Given the description of an element on the screen output the (x, y) to click on. 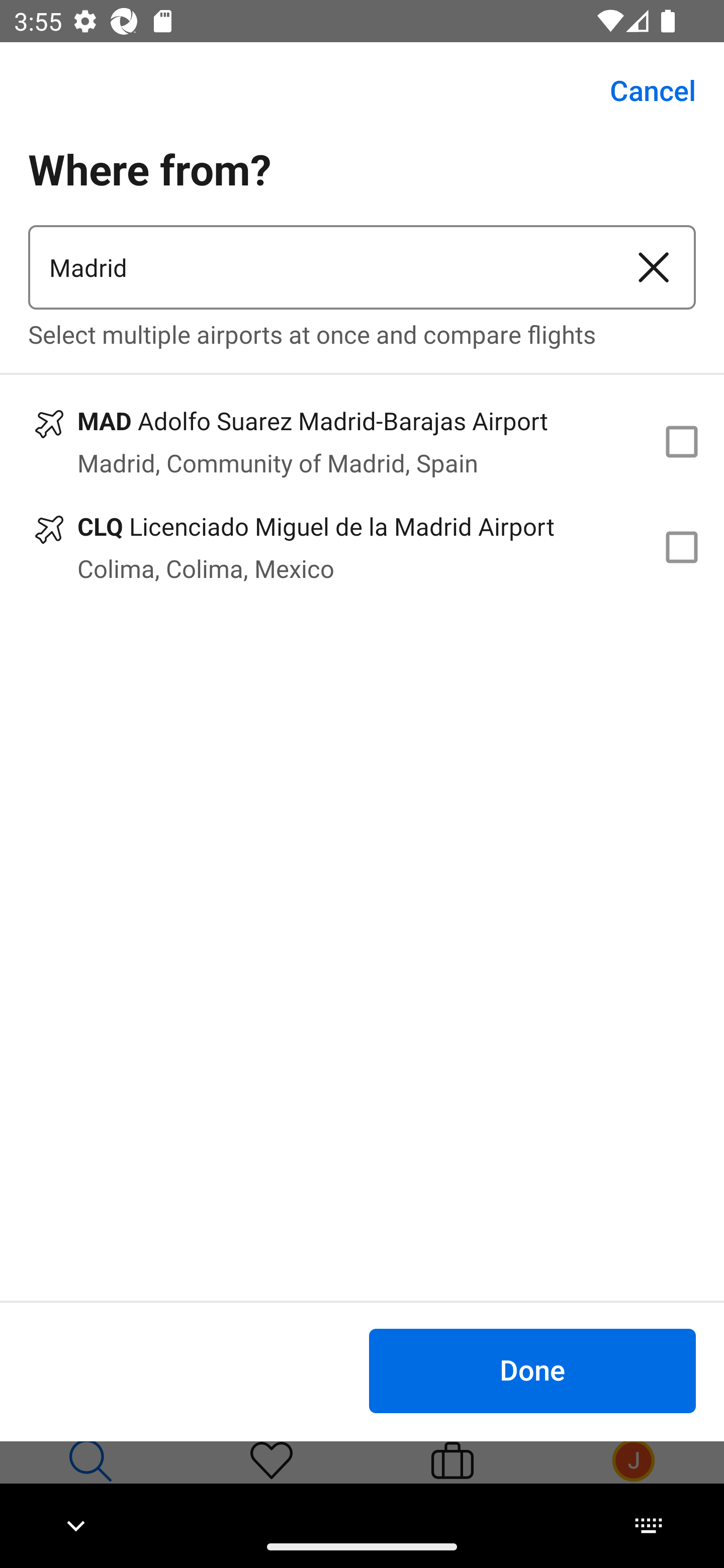
Cancel (641, 90)
Madrid (319, 266)
Clear airport or city (653, 266)
Done (532, 1370)
